Given the description of an element on the screen output the (x, y) to click on. 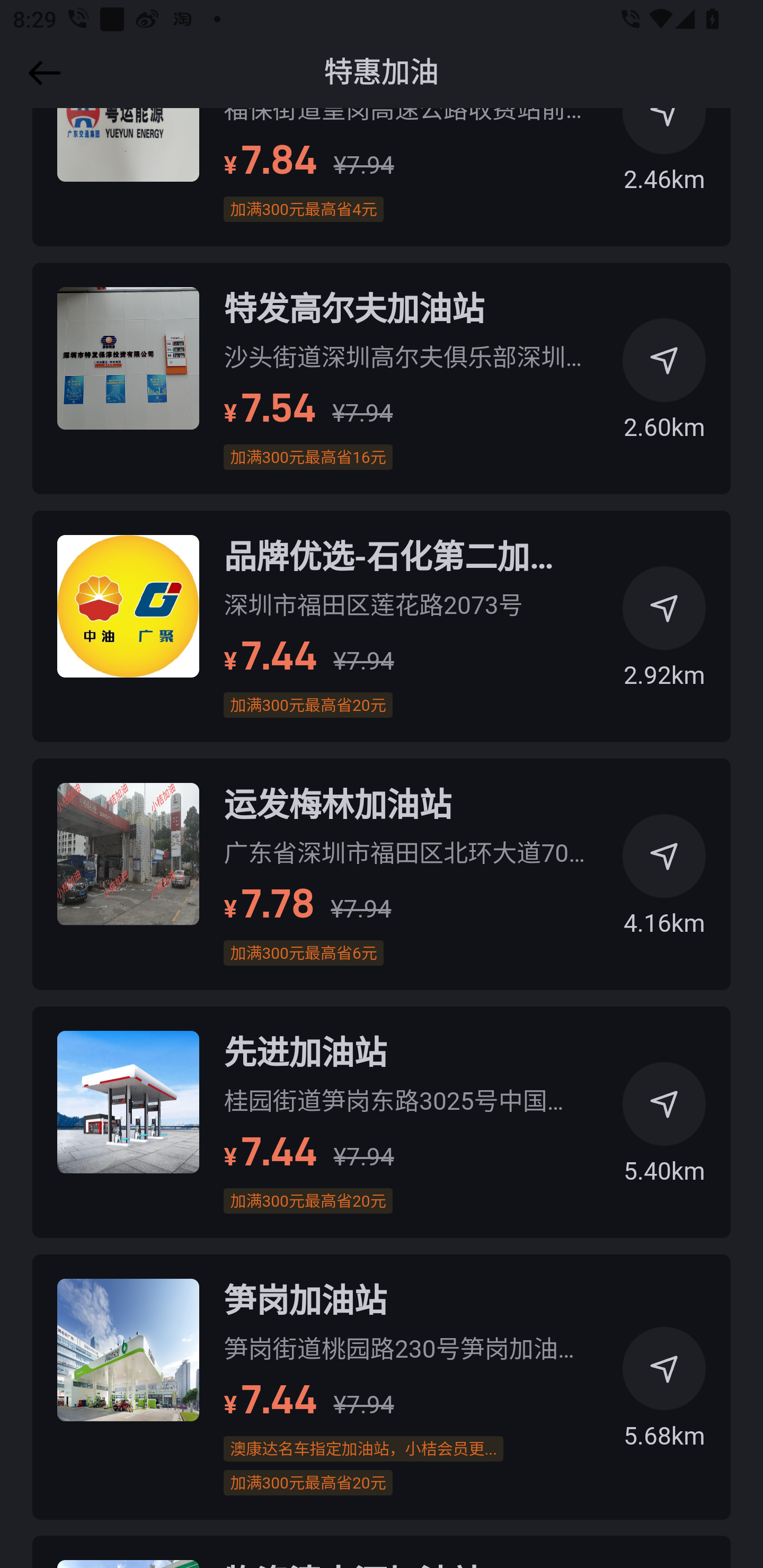
特惠加油 (381, 73)
2.60km (664, 387)
2.92km (664, 635)
4.16km (664, 883)
5.40km (664, 1131)
5.68km (664, 1395)
